Given the description of an element on the screen output the (x, y) to click on. 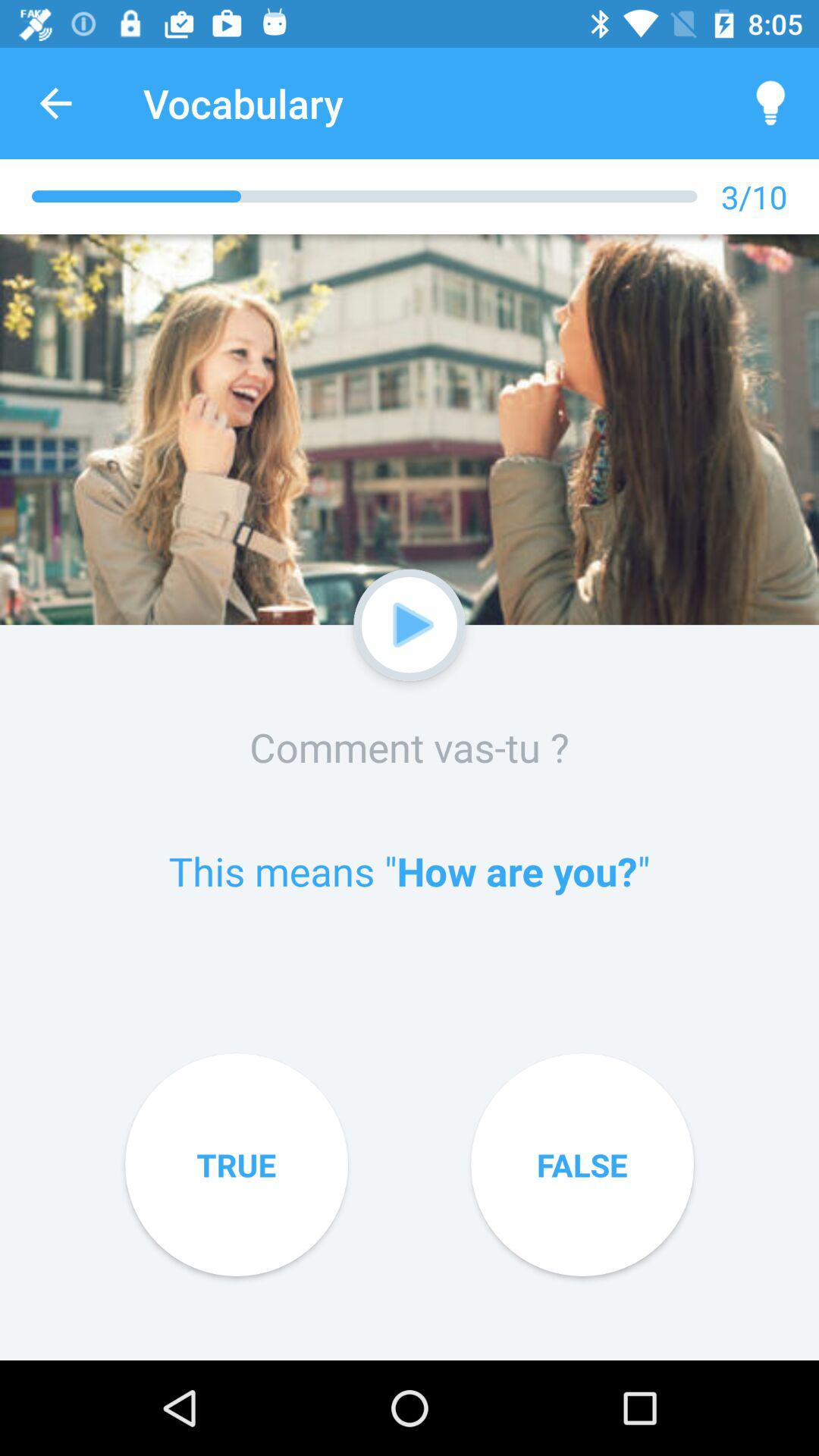
turn off icon next to vocabulary icon (55, 103)
